Given the description of an element on the screen output the (x, y) to click on. 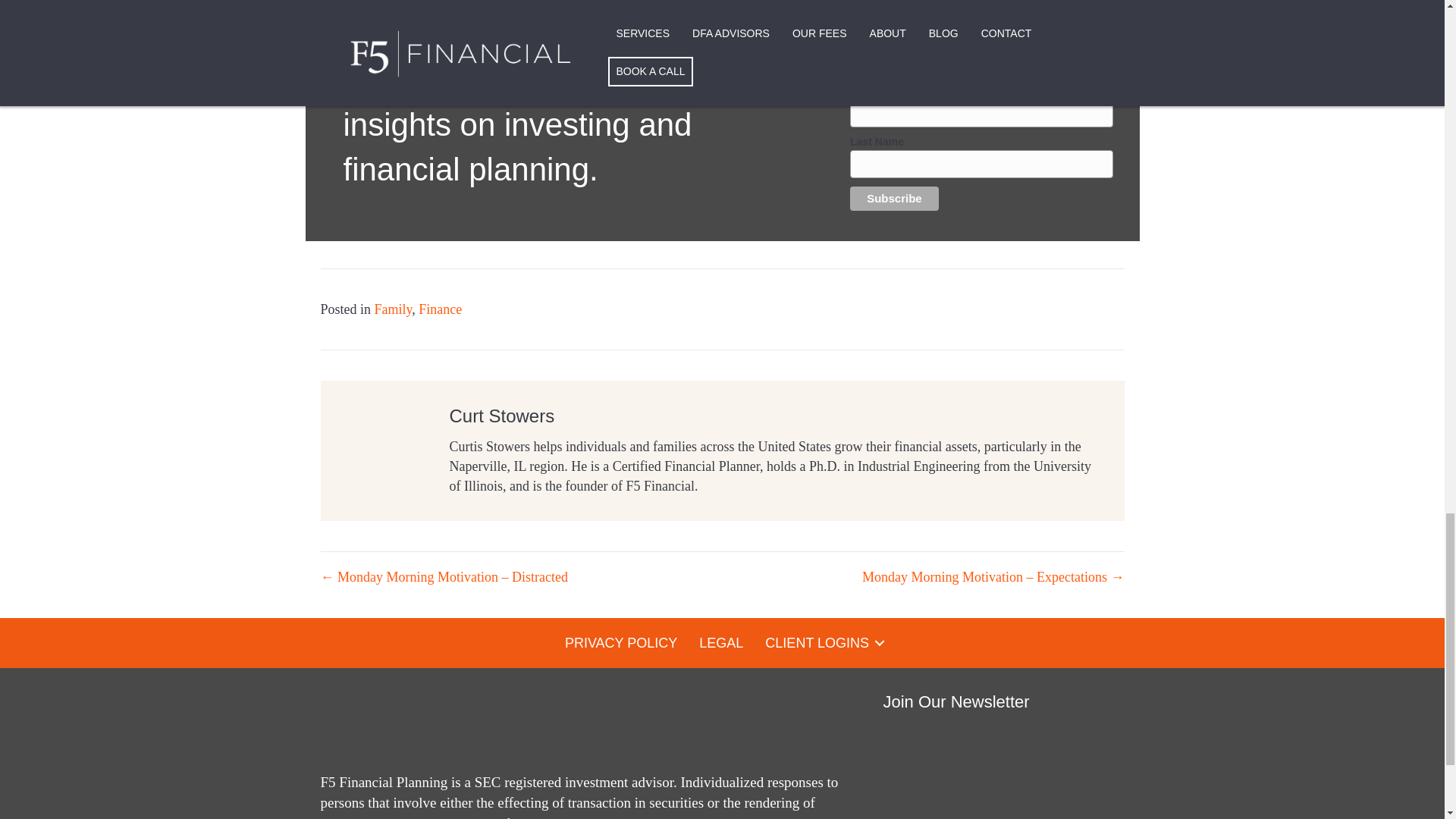
Subscribe (894, 198)
Finance (440, 309)
Family (393, 309)
PRIVACY POLICY (620, 642)
Subscribe (894, 198)
